Given the description of an element on the screen output the (x, y) to click on. 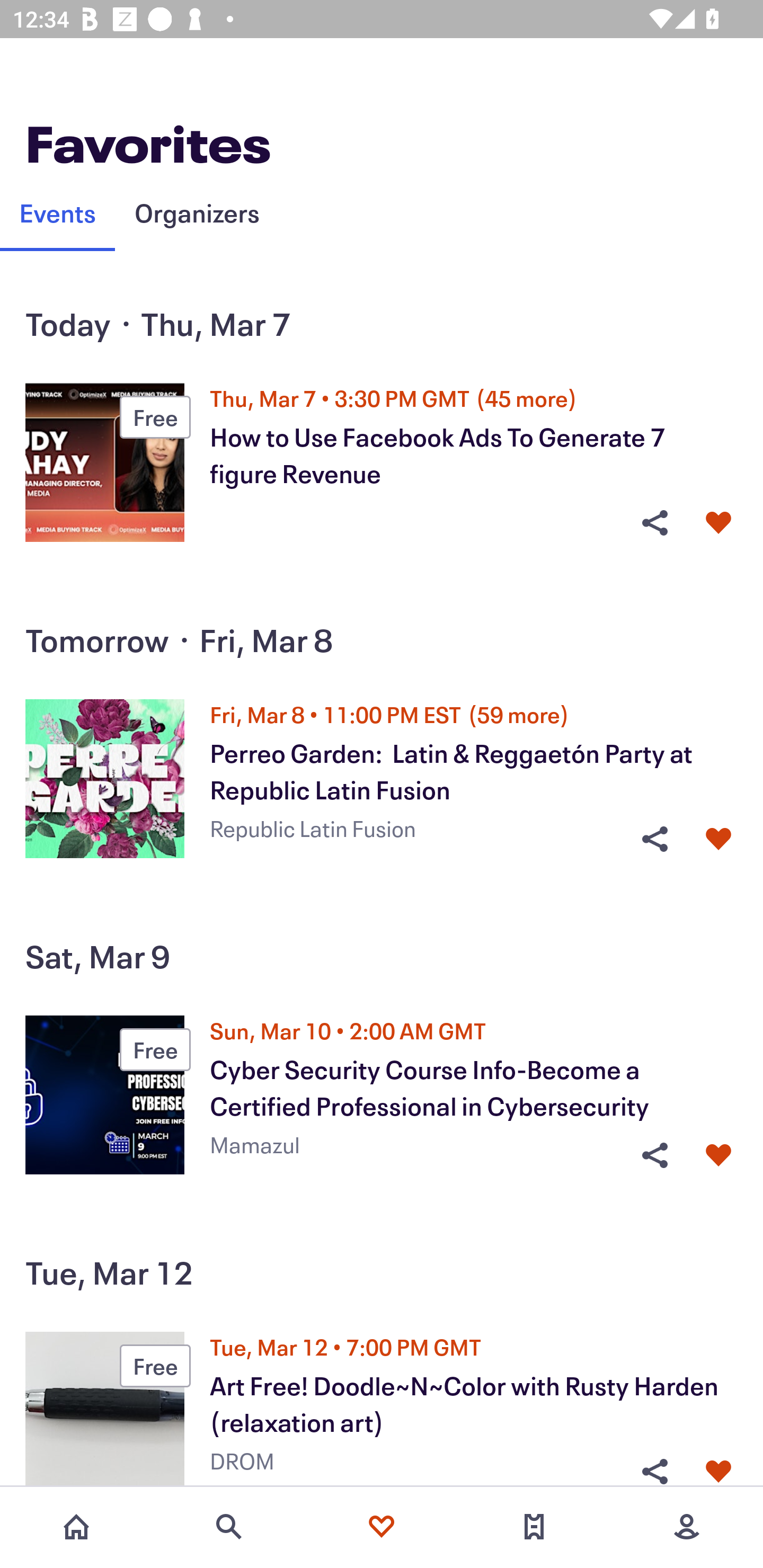
Organizers (196, 212)
Share Event (654, 522)
Unlike event (718, 522)
Share Event (654, 838)
Unlike event (718, 838)
Share Event (654, 1155)
Unlike event (718, 1155)
Share Event (654, 1471)
Unlike event (718, 1471)
Home (76, 1526)
Search events (228, 1526)
Favorites (381, 1526)
Tickets (533, 1526)
More (686, 1526)
